Given the description of an element on the screen output the (x, y) to click on. 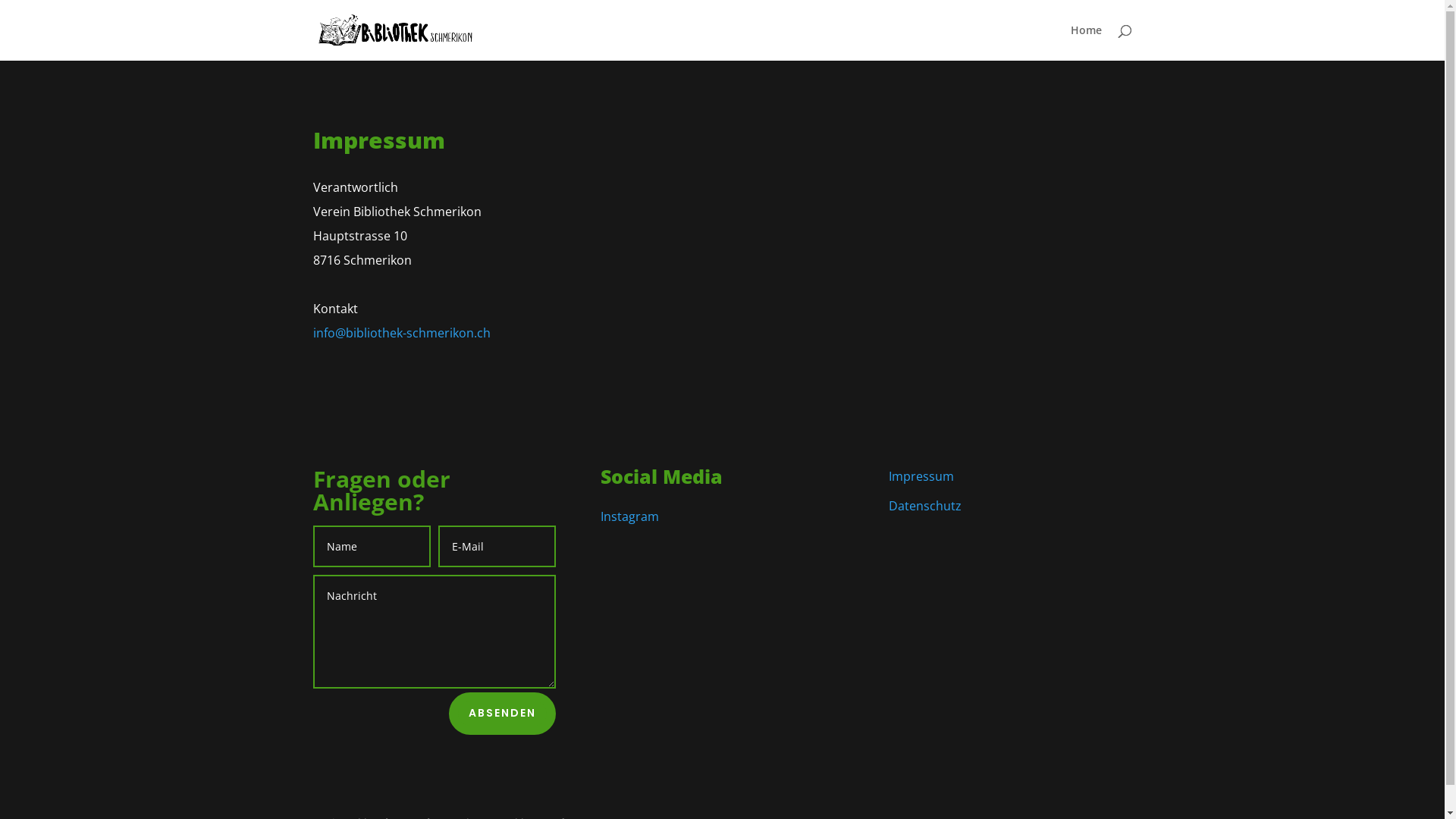
ABSENDEN Element type: text (501, 713)
info@bibliothek-schmerikon.ch Element type: text (400, 332)
Datenschutz Element type: text (924, 505)
Impressum Element type: text (920, 475)
Instagram Element type: text (629, 516)
Home Element type: text (1085, 42)
